Given the description of an element on the screen output the (x, y) to click on. 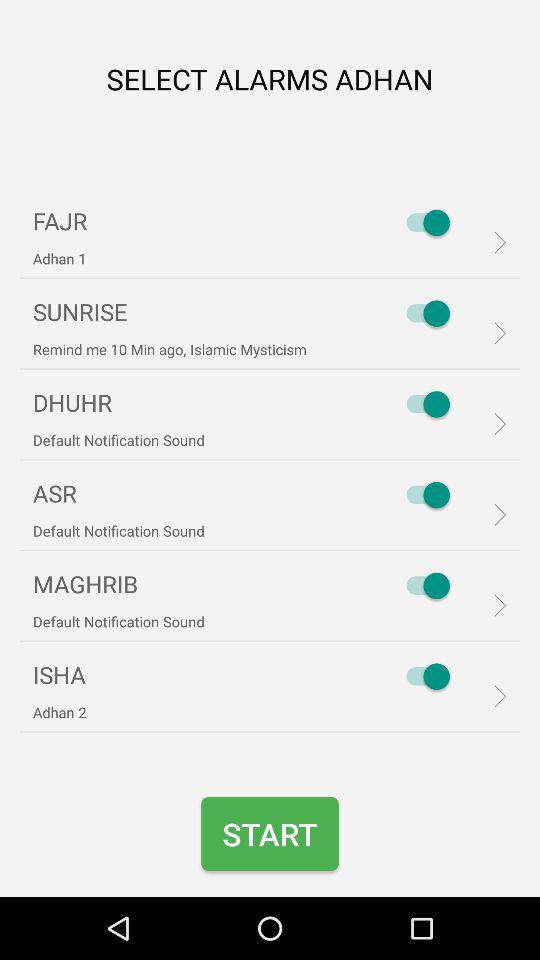
select sunrise alarms (423, 313)
